Given the description of an element on the screen output the (x, y) to click on. 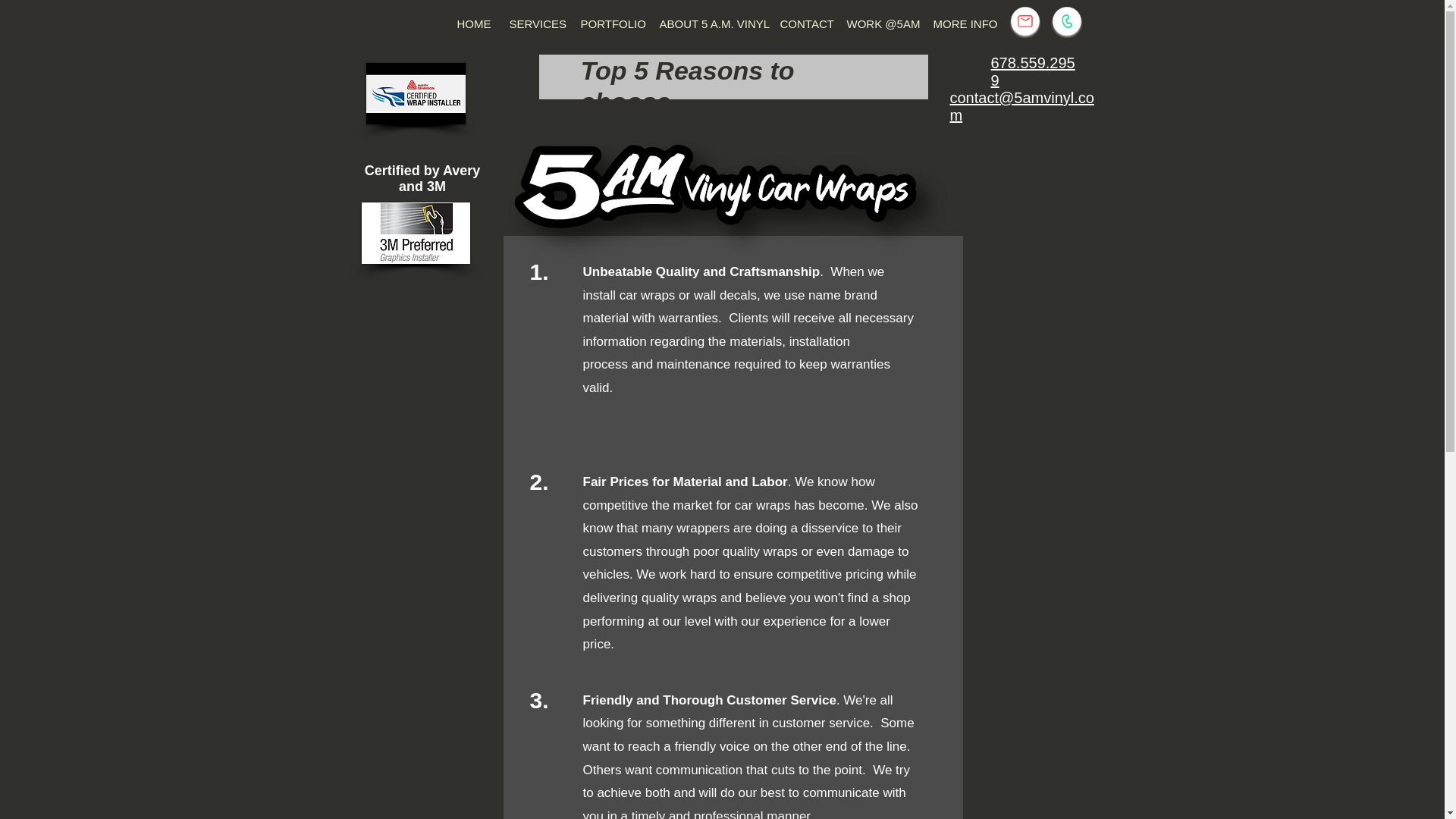
ABOUT 5 A.M. VINYL (709, 24)
CONTACT (803, 24)
PORTFOLIO (609, 24)
HOME (472, 24)
678.559.2959 (1032, 71)
SERVICES (534, 24)
